Given the description of an element on the screen output the (x, y) to click on. 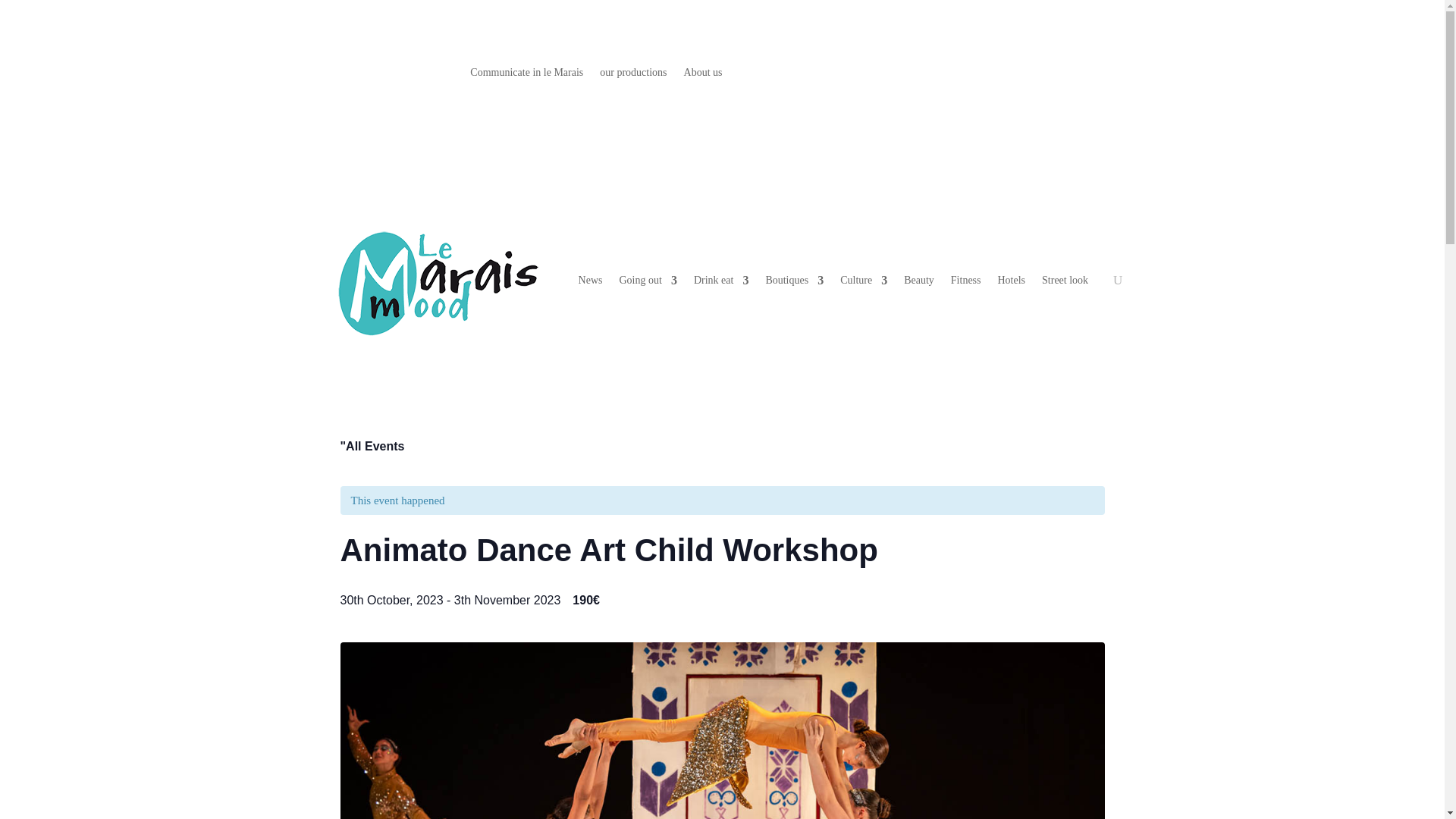
Communicate in le Marais (526, 75)
"All Events (371, 445)
Follow on TikTok (1118, 73)
Follow on Facebook (1028, 73)
our productions (632, 75)
Follow on Instagram (1058, 73)
About us (703, 75)
Follow on Youtube (1088, 73)
